Given the description of an element on the screen output the (x, y) to click on. 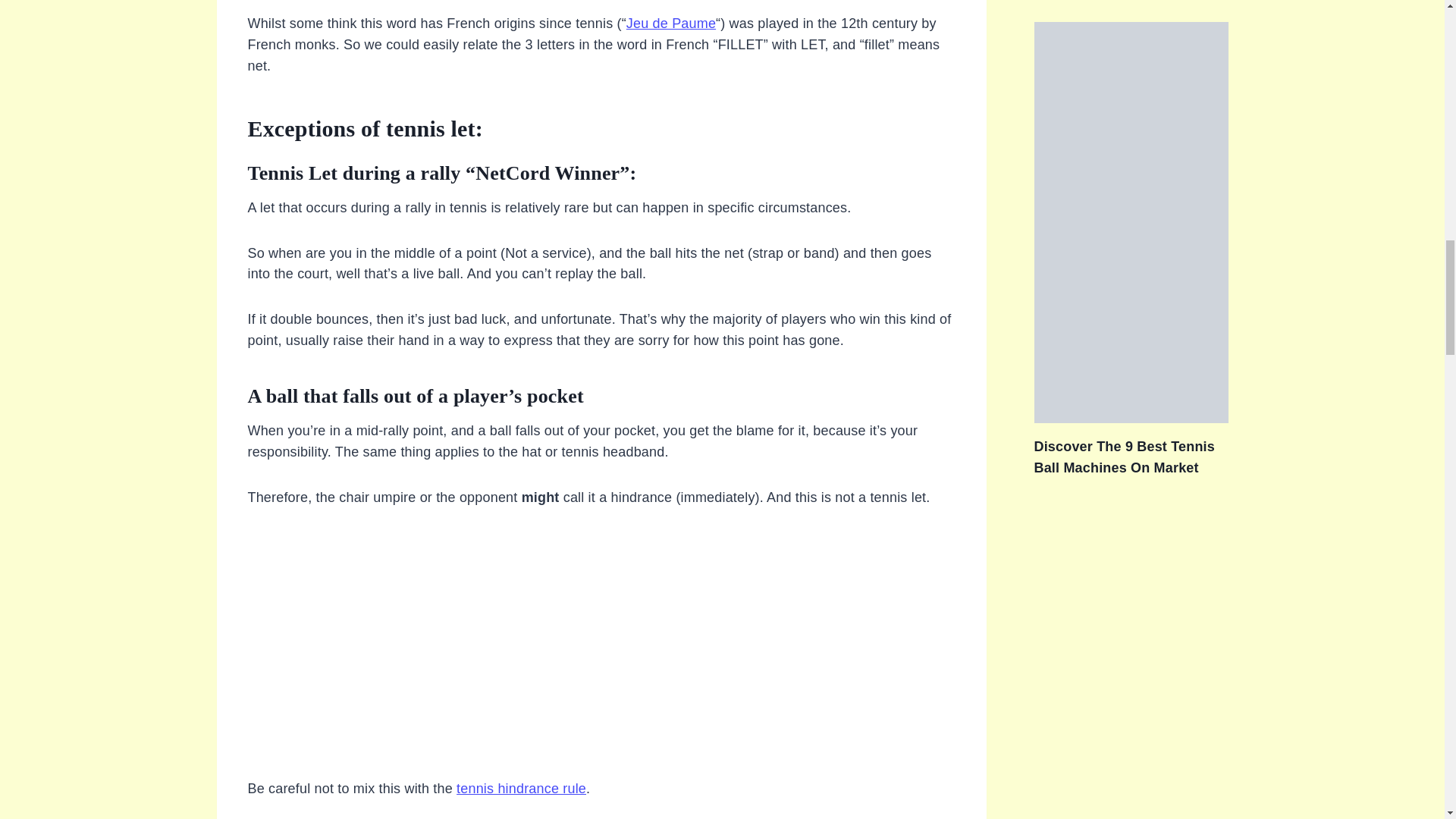
Jeu de Paume (671, 23)
YouTube video player (600, 652)
tennis hindrance rule (521, 788)
